Given the description of an element on the screen output the (x, y) to click on. 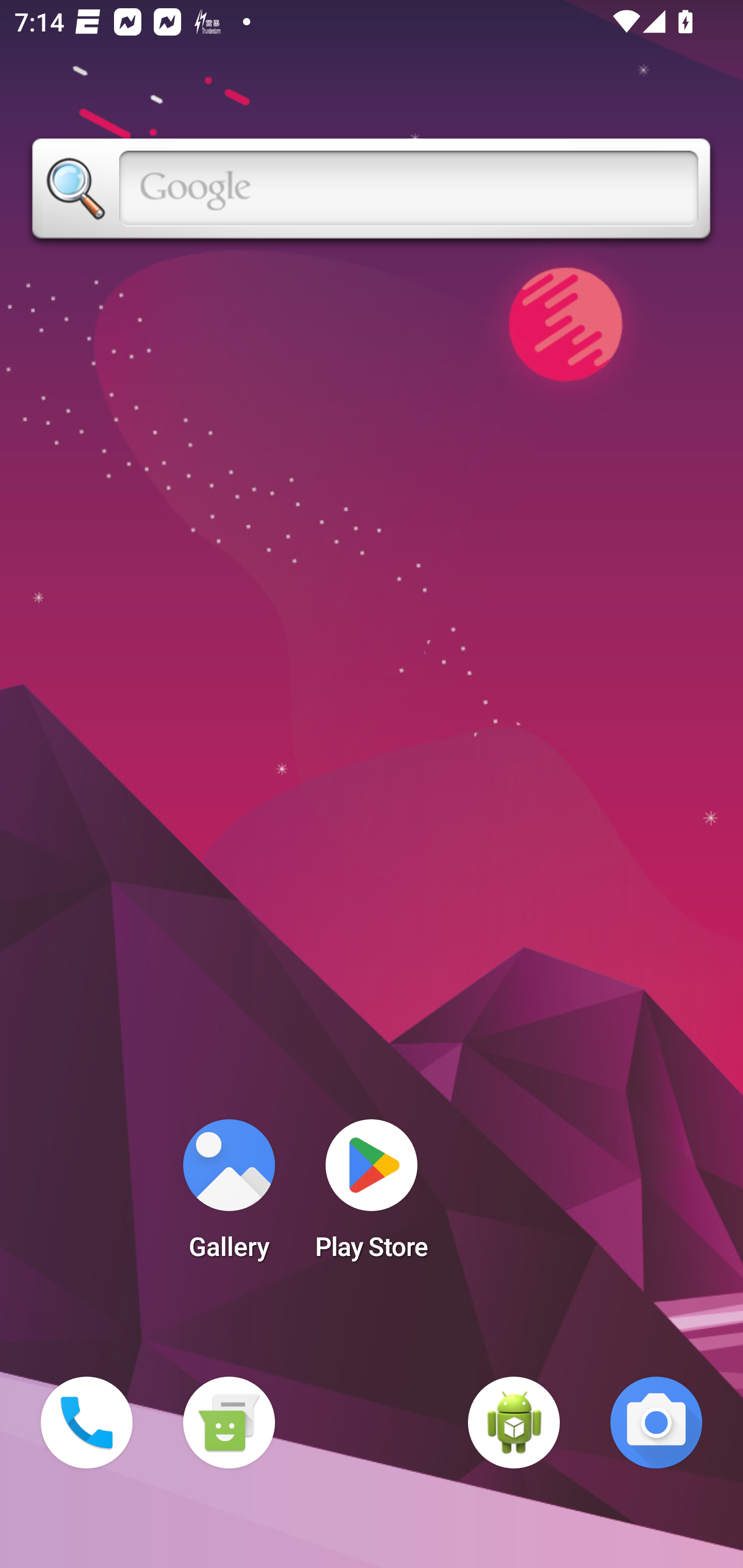
Gallery (228, 1195)
Play Store (371, 1195)
Phone (86, 1422)
Messaging (228, 1422)
WebView Browser Tester (513, 1422)
Camera (656, 1422)
